Given the description of an element on the screen output the (x, y) to click on. 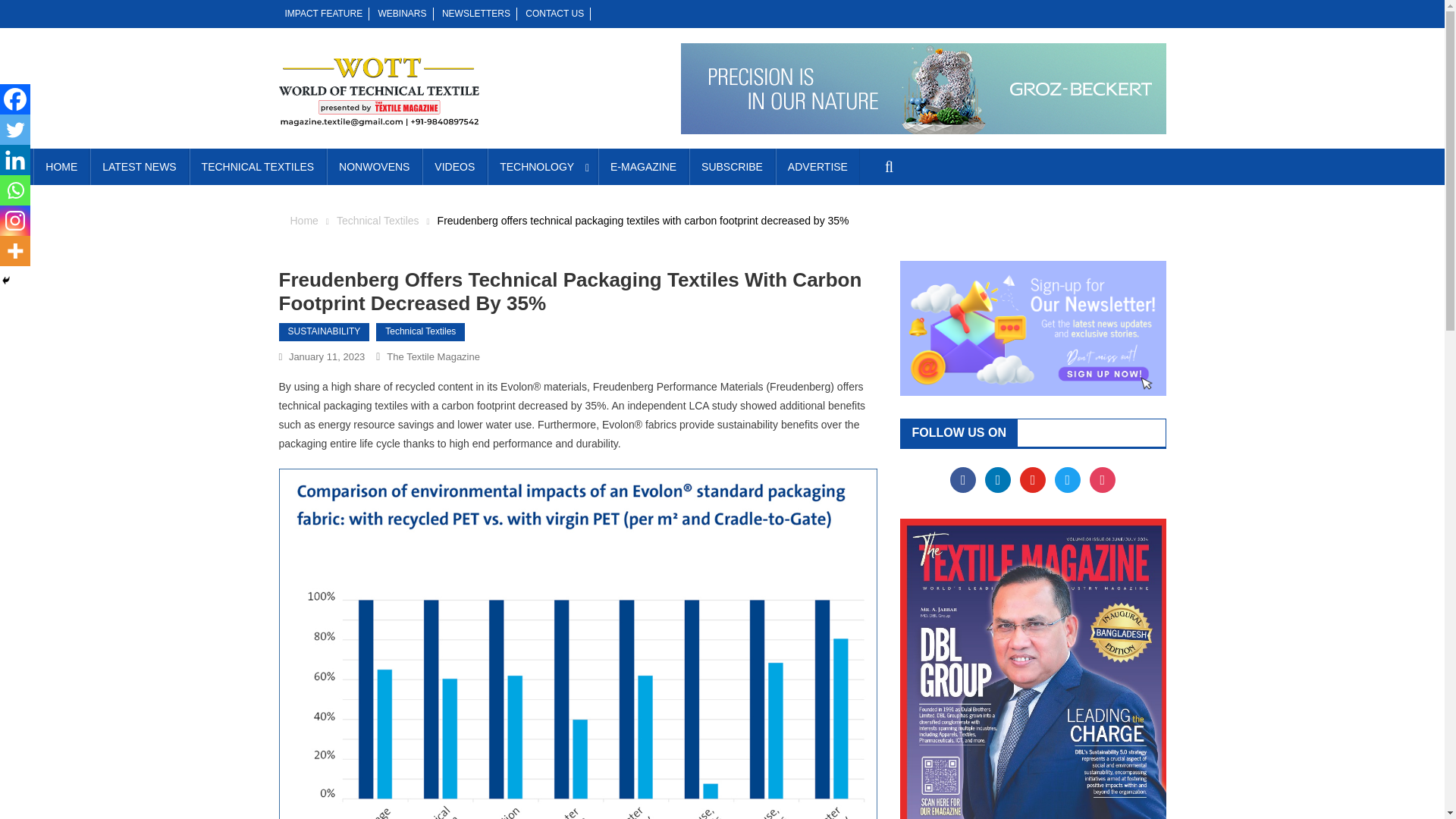
CONTACT US (554, 13)
Default Label (997, 479)
SUBSCRIBE (731, 166)
Facebook (15, 99)
Whatsapp (15, 190)
Instagram (15, 220)
Twitter (1067, 479)
Technical Textiles (377, 220)
January 11, 2023 (326, 356)
Default Label (1032, 479)
Technical Textiles (419, 331)
NONWOVENS (374, 166)
TECHNICAL TEXTILES (257, 166)
IMPACT FEATURE (323, 13)
Instagram (1102, 479)
